Given the description of an element on the screen output the (x, y) to click on. 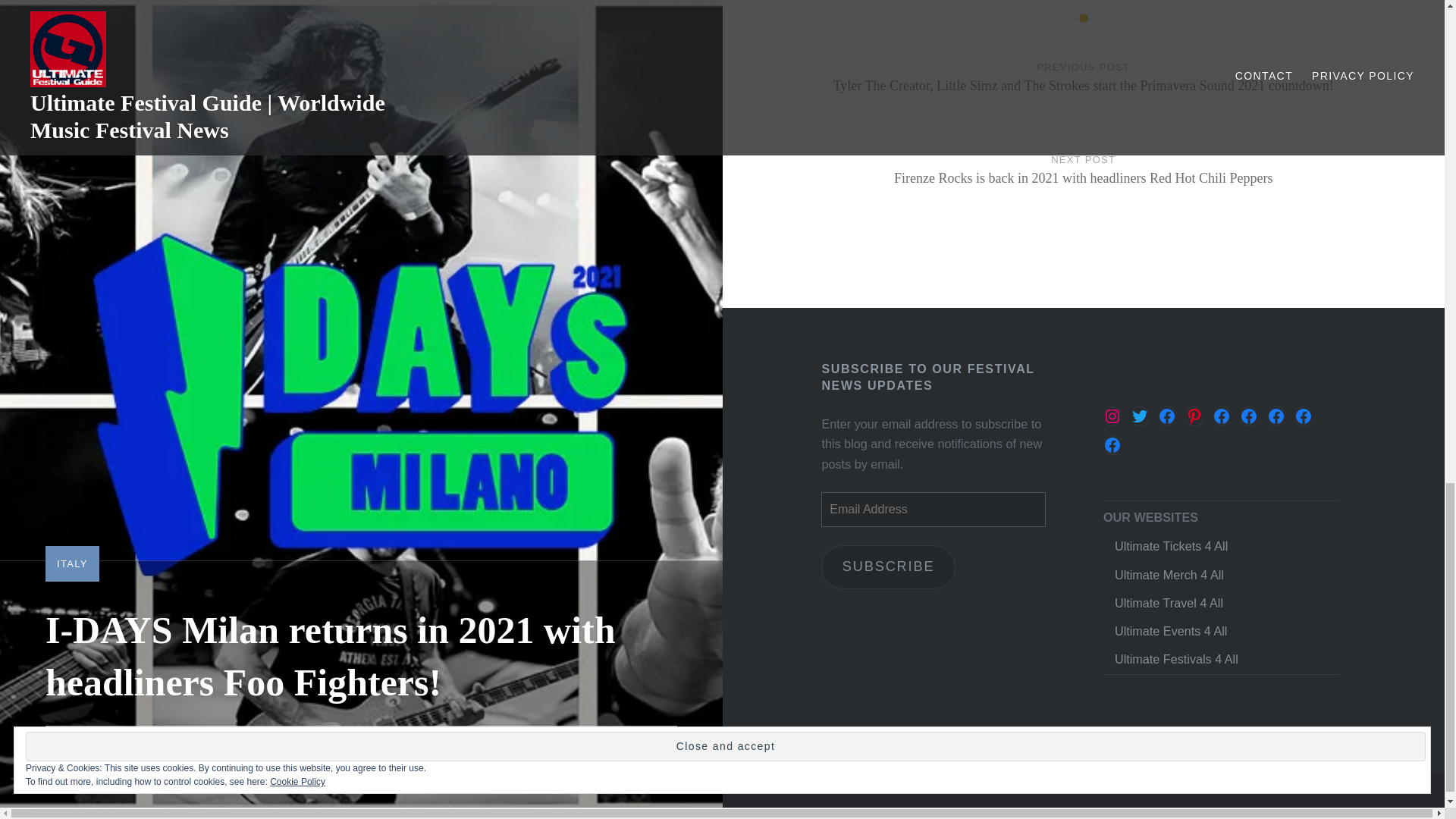
Twitter (1139, 416)
Ultimate Travel 4 All (1169, 602)
Facebook (1275, 416)
Facebook (1303, 416)
Ultimate Merch 4 All (1169, 574)
Facebook (1166, 416)
Facebook (1248, 416)
Ultimate Festivals 4 All (1177, 658)
Ultimate Tickets 4 All (1171, 545)
Pinterest (1194, 416)
Instagram (1112, 416)
SUBSCRIBE (888, 566)
Facebook (1112, 444)
